Given the description of an element on the screen output the (x, y) to click on. 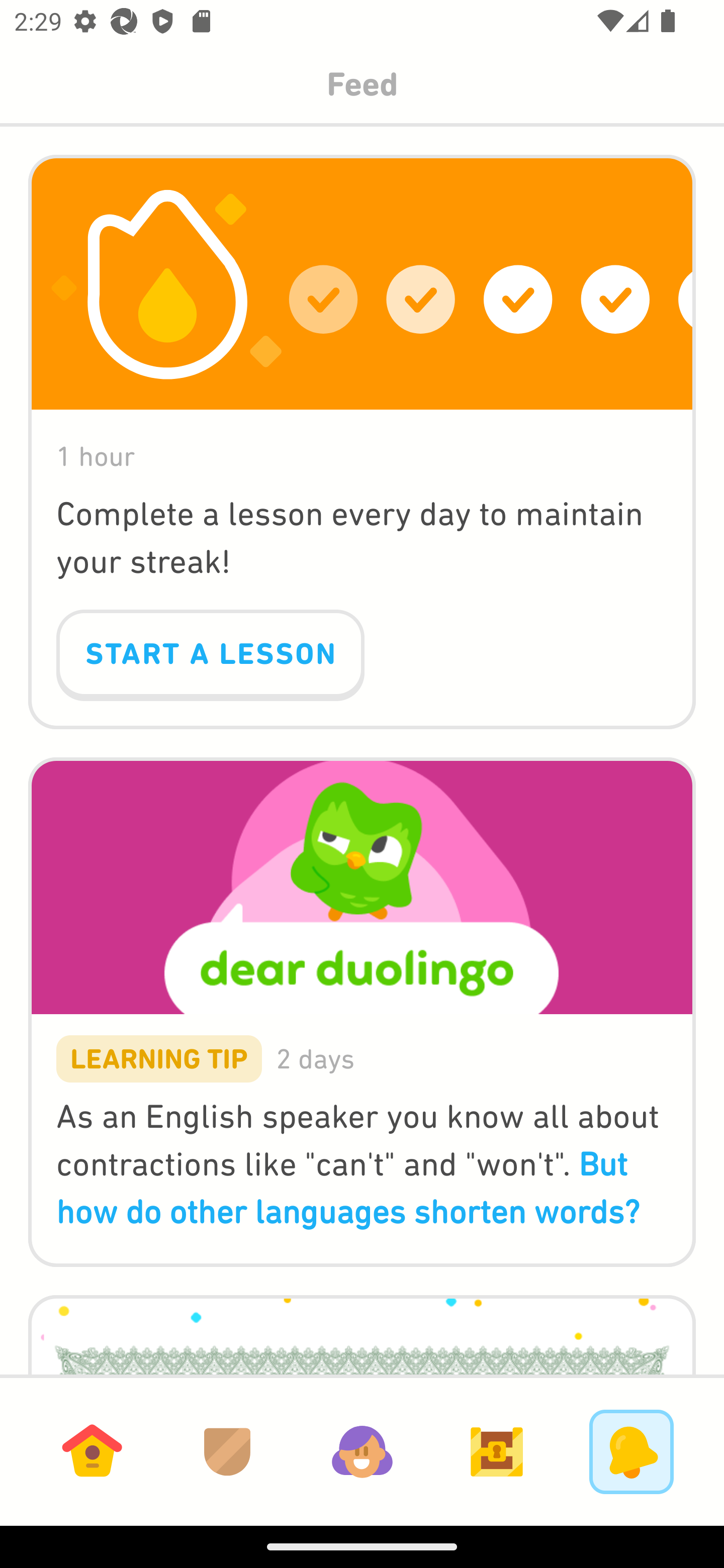
START A LESSON (210, 654)
Learn Tab (91, 1451)
Leagues Tab (227, 1451)
Profile Tab (361, 1451)
Goals Tab (496, 1451)
News Tab (631, 1451)
